Given the description of an element on the screen output the (x, y) to click on. 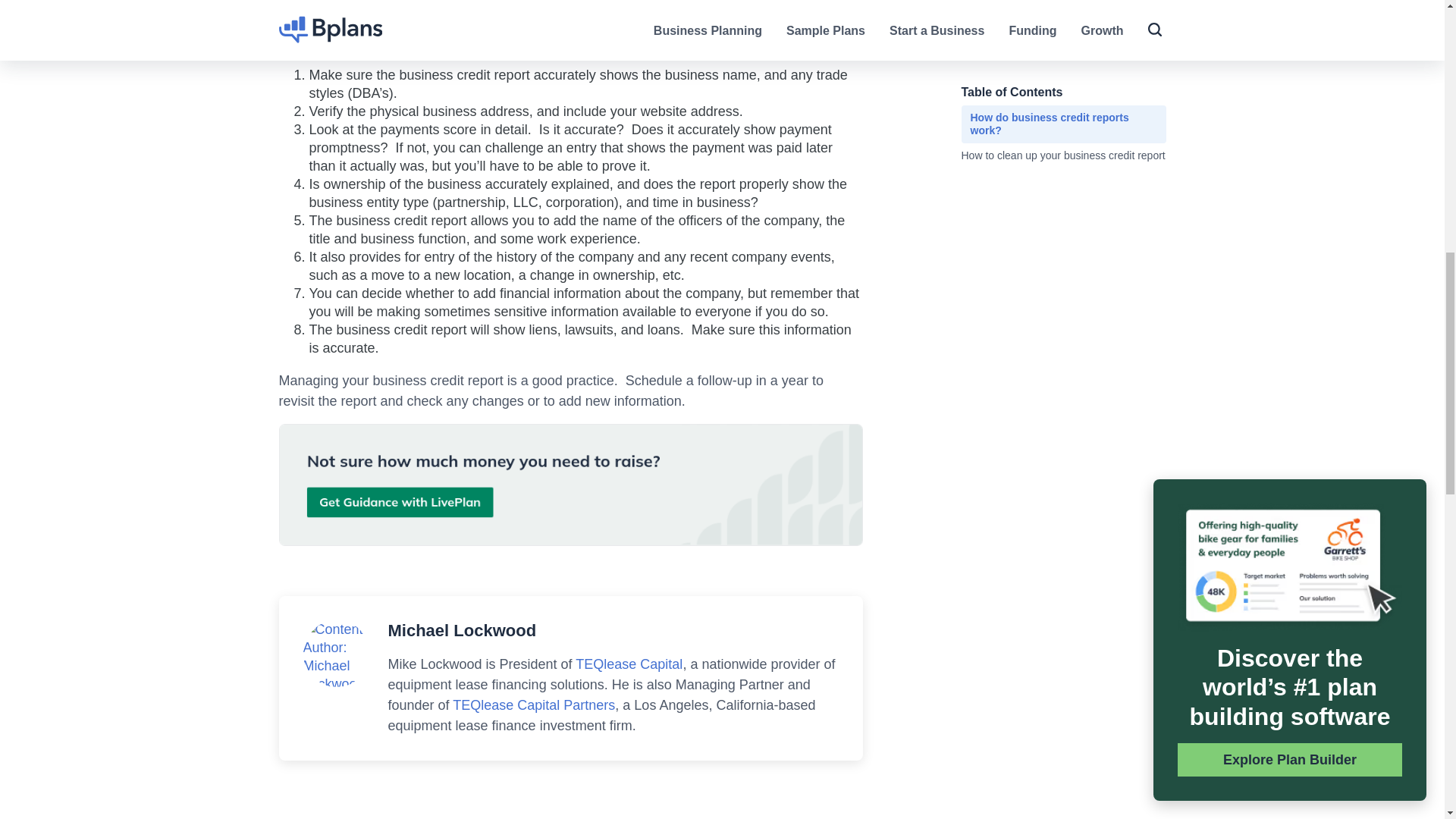
Content Author: Michael Lockwood (335, 655)
